Given the description of an element on the screen output the (x, y) to click on. 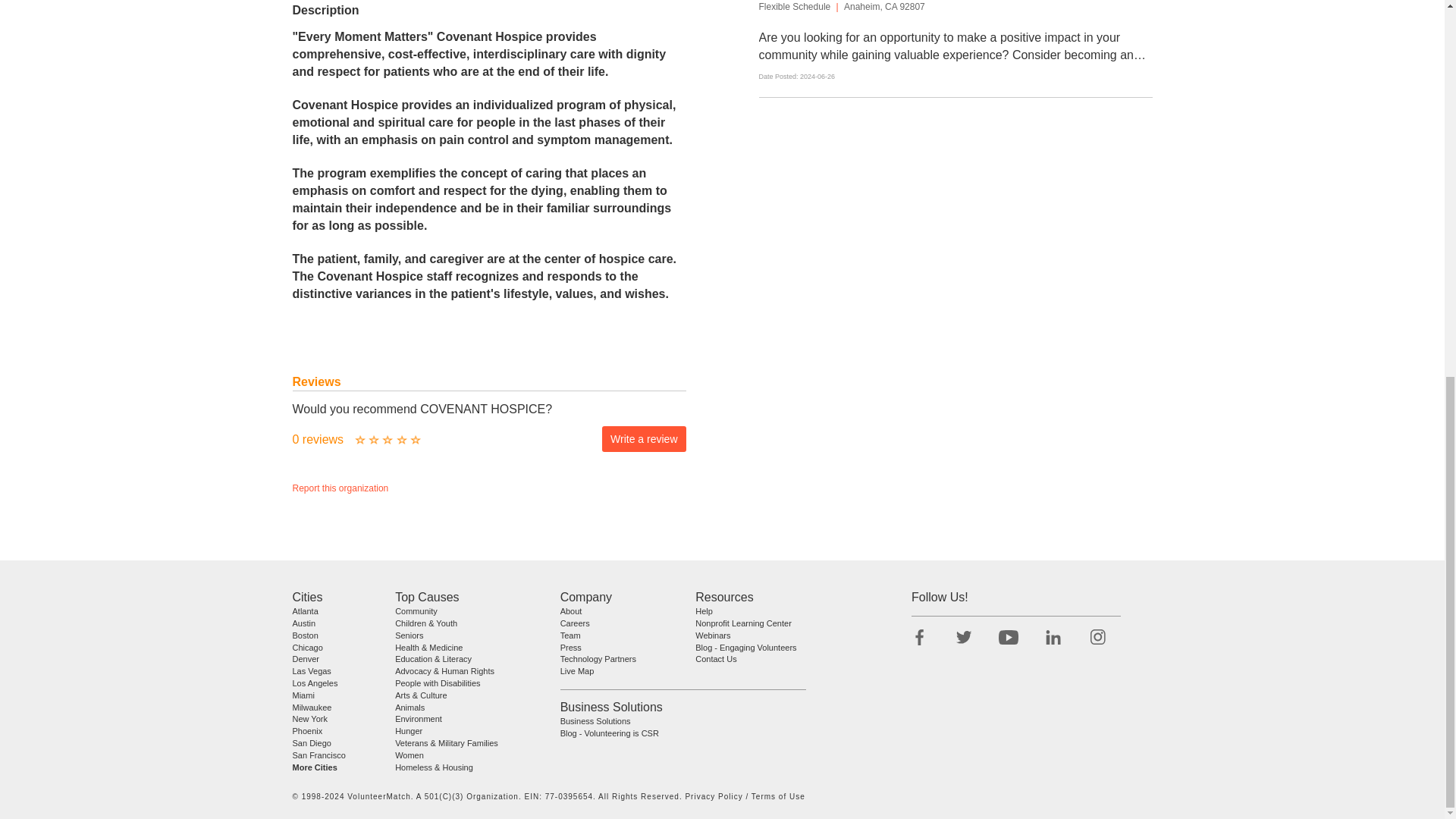
Boston (305, 634)
Chicago (307, 646)
Report this organization (340, 488)
Austin (303, 623)
Atlanta (305, 610)
Write a review (643, 438)
